Given the description of an element on the screen output the (x, y) to click on. 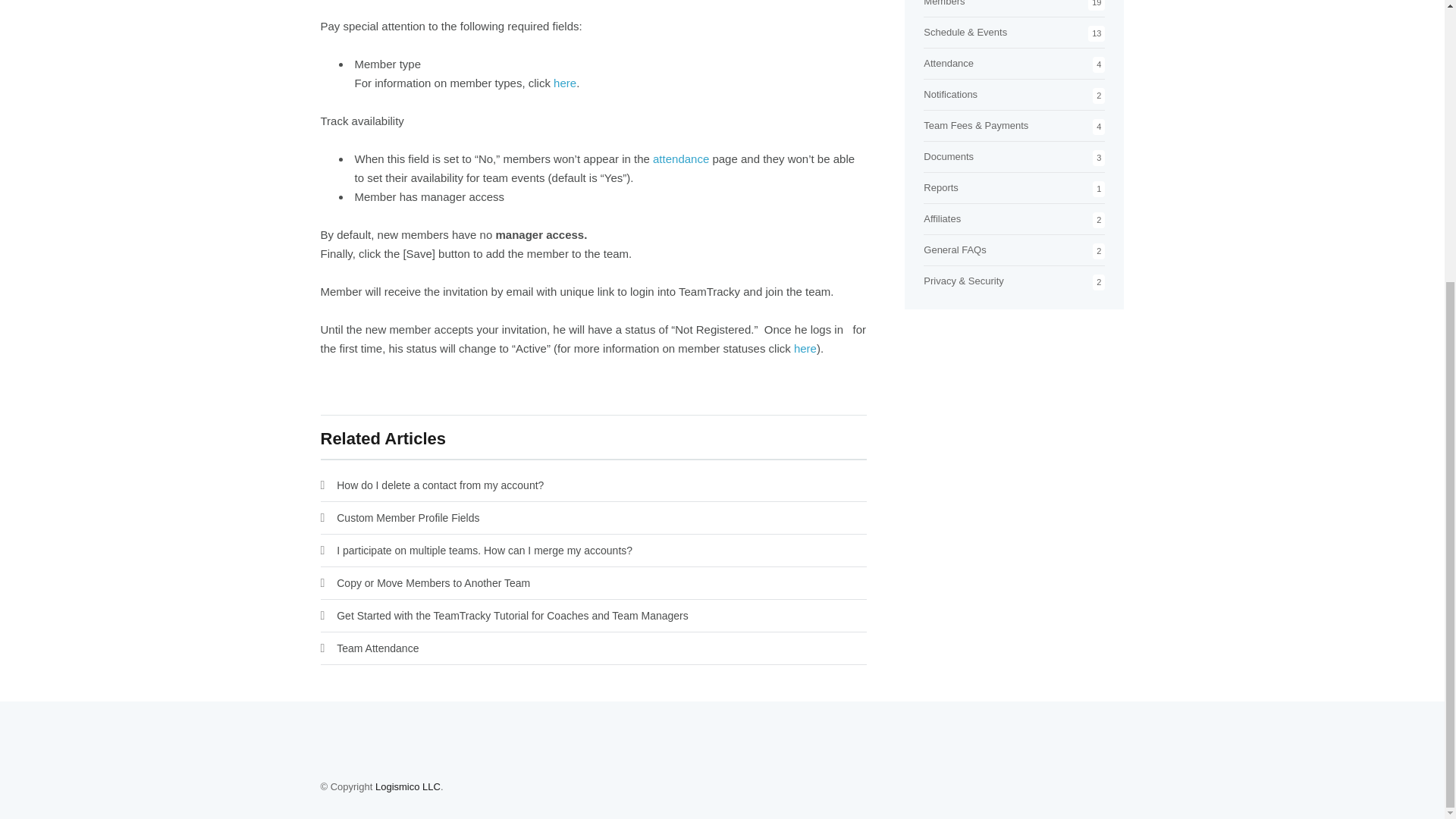
Notifications (949, 93)
General FAQs (954, 249)
Affiliates (941, 218)
View all posts in Notifications (949, 93)
Documents (948, 156)
Team Attendance (377, 648)
Logismico LLC (408, 786)
Copy or Move Members to Another Team (432, 582)
